Given the description of an element on the screen output the (x, y) to click on. 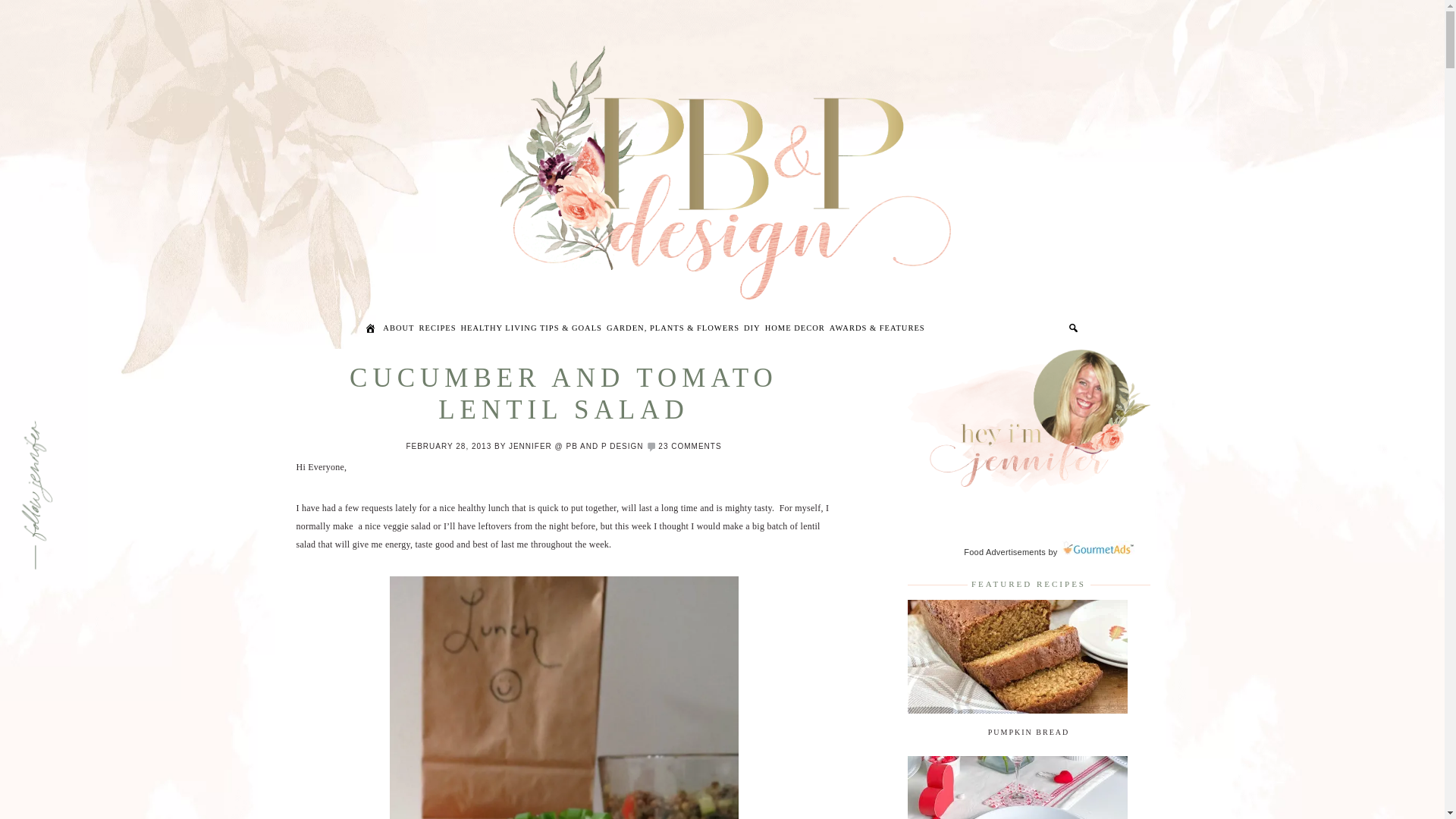
Food Advertisements (1004, 551)
RECIPES (437, 330)
Pumpkin Bread (1016, 710)
